Given the description of an element on the screen output the (x, y) to click on. 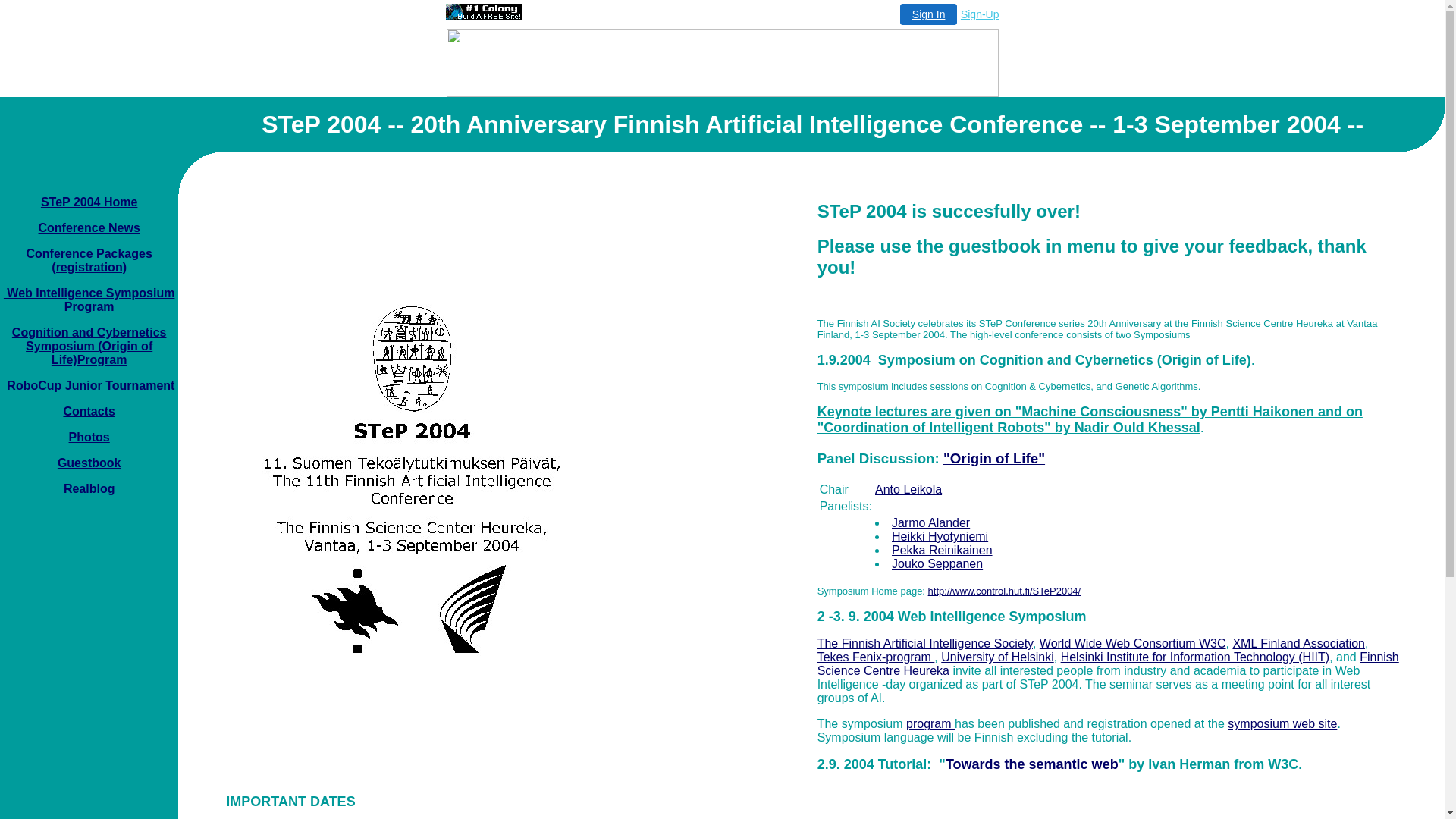
University of Helsinki Element type: text (997, 656)
Sign In Element type: text (928, 14)
symposium web site Element type: text (1281, 723)
Anto Leikola Element type: text (908, 489)
Conference News Element type: text (89, 227)
Jouko Seppanen Element type: text (936, 563)
STeP 2004 Home Element type: text (88, 201)
Photos Element type: text (89, 436)
The Finnish Artificial Intelligence Society Element type: text (924, 643)
Guestbook Element type: text (89, 462)
Contacts Element type: text (88, 410)
program Element type: text (930, 723)
Finnish Science Centre Heureka Element type: text (1108, 663)
 Web Intelligence Symposium Program Element type: text (89, 299)
http://www.control.hut.fi/STeP2004/ Element type: text (1004, 589)
World Wide Web Consortium W3C Element type: text (1132, 643)
 RoboCup Junior Tournament Element type: text (88, 385)
Cognition and Cybernetics Symposium (Origin of Life)Program Element type: text (89, 346)
Conference Packages (registration) Element type: text (88, 260)
Helsinki Institute for Information Technology (HIIT) Element type: text (1195, 656)
Tekes Fenix-program Element type: text (876, 656)
Pekka Reinikainen Element type: text (941, 549)
XML Finland Association Element type: text (1298, 643)
Towards the semantic web Element type: text (1031, 764)
Realblog Element type: text (89, 488)
"Origin of Life" Element type: text (993, 458)
Heikki Hyotyniemi Element type: text (939, 536)
Sign-Up Element type: text (979, 14)
Jarmo Alander Element type: text (930, 522)
